Given the description of an element on the screen output the (x, y) to click on. 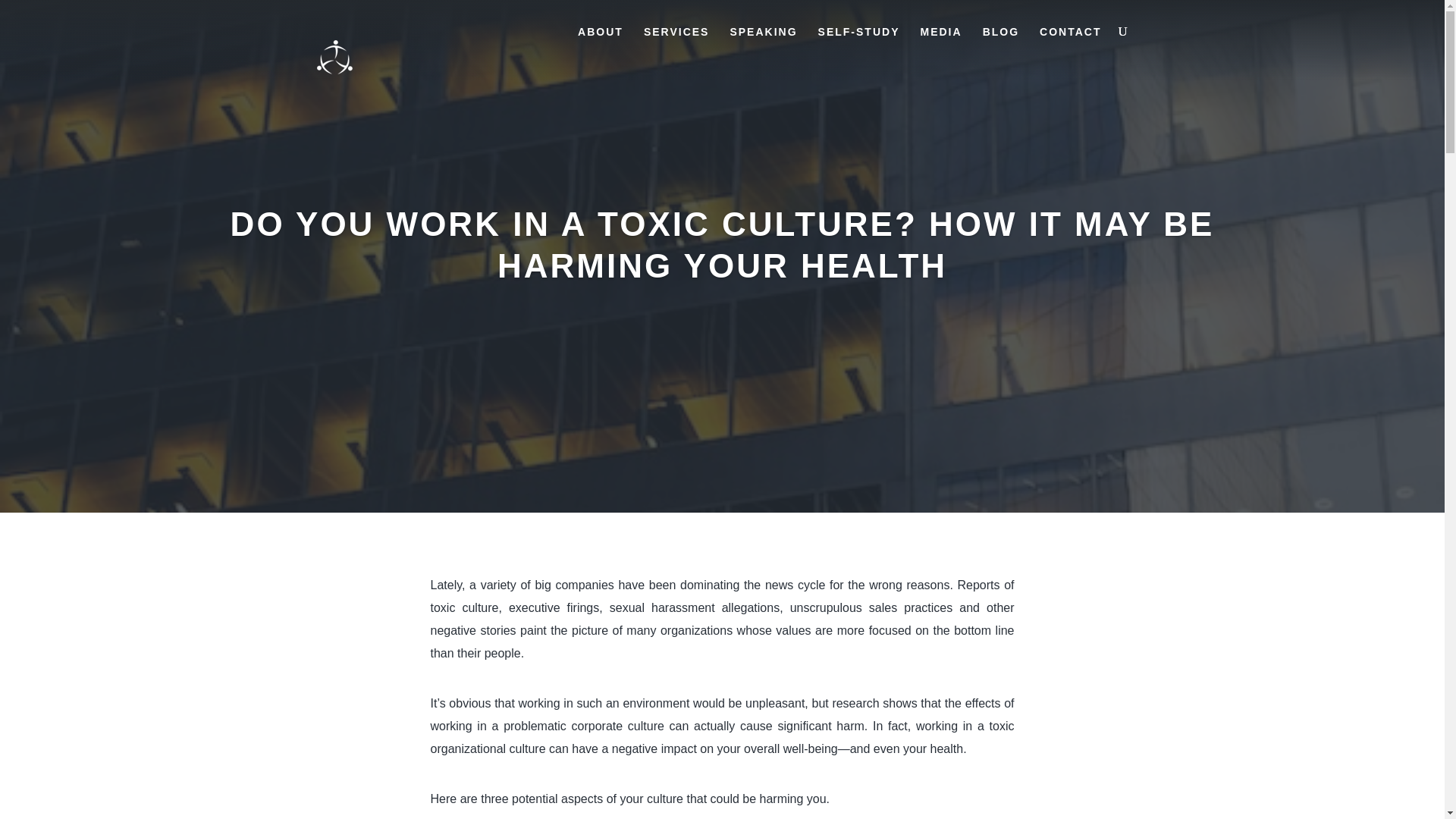
SERVICES (676, 44)
ABOUT (600, 44)
SELF-STUDY (858, 44)
BLOG (1000, 44)
SPEAKING (762, 44)
CONTACT (1069, 44)
MEDIA (940, 44)
